Given the description of an element on the screen output the (x, y) to click on. 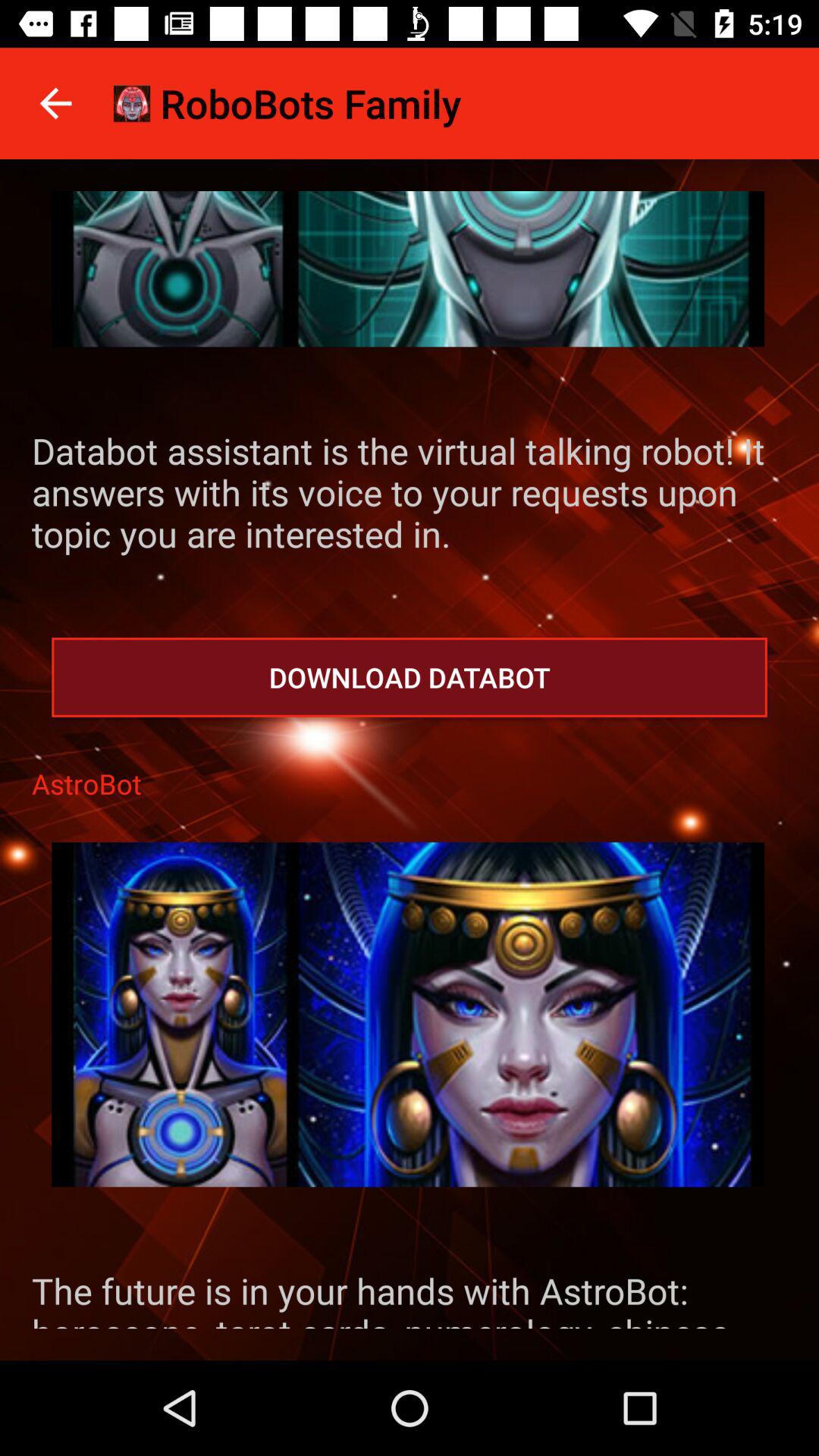
game page (407, 268)
